Given the description of an element on the screen output the (x, y) to click on. 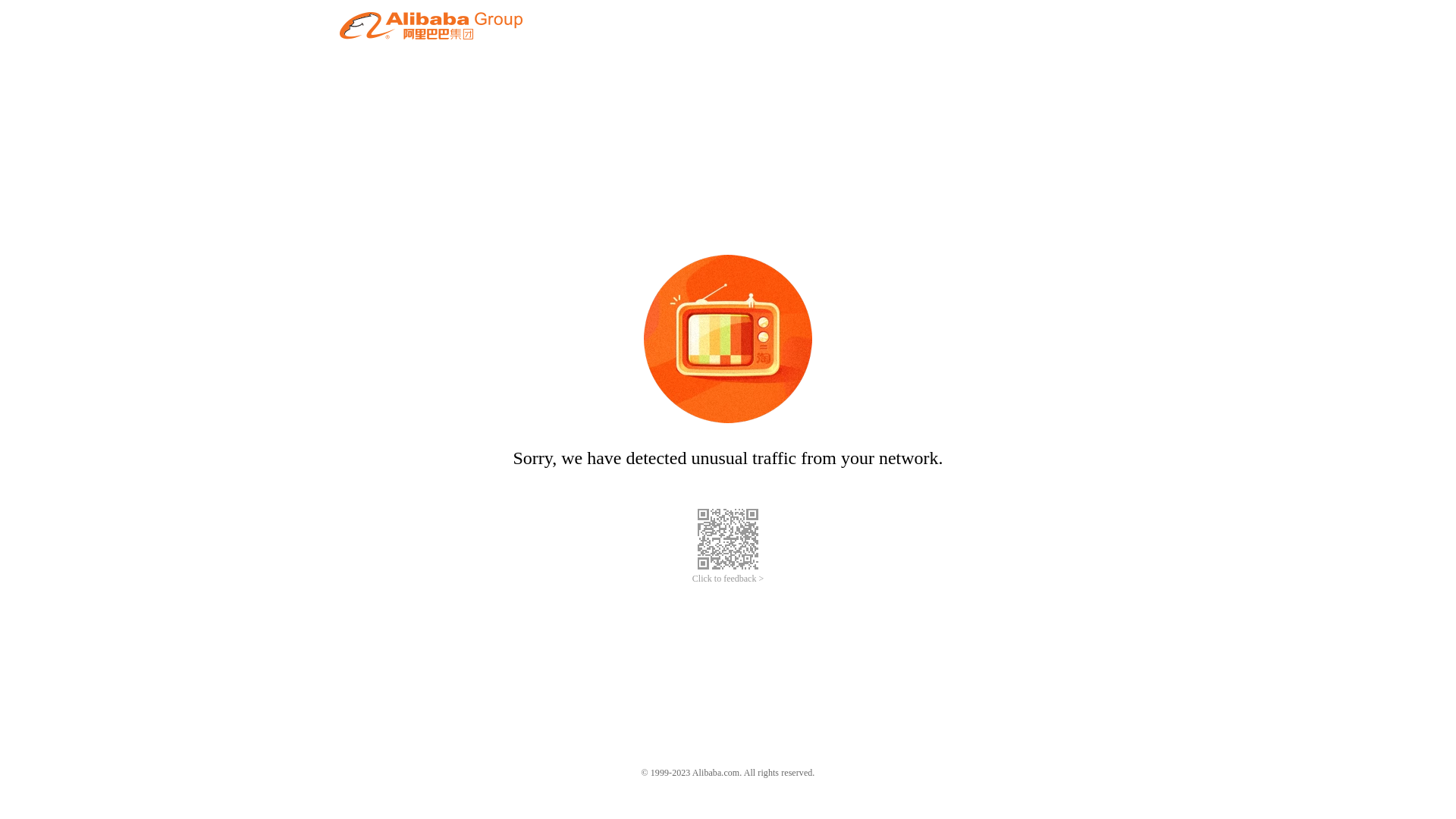
Click to feedback > Element type: text (727, 578)
